Given the description of an element on the screen output the (x, y) to click on. 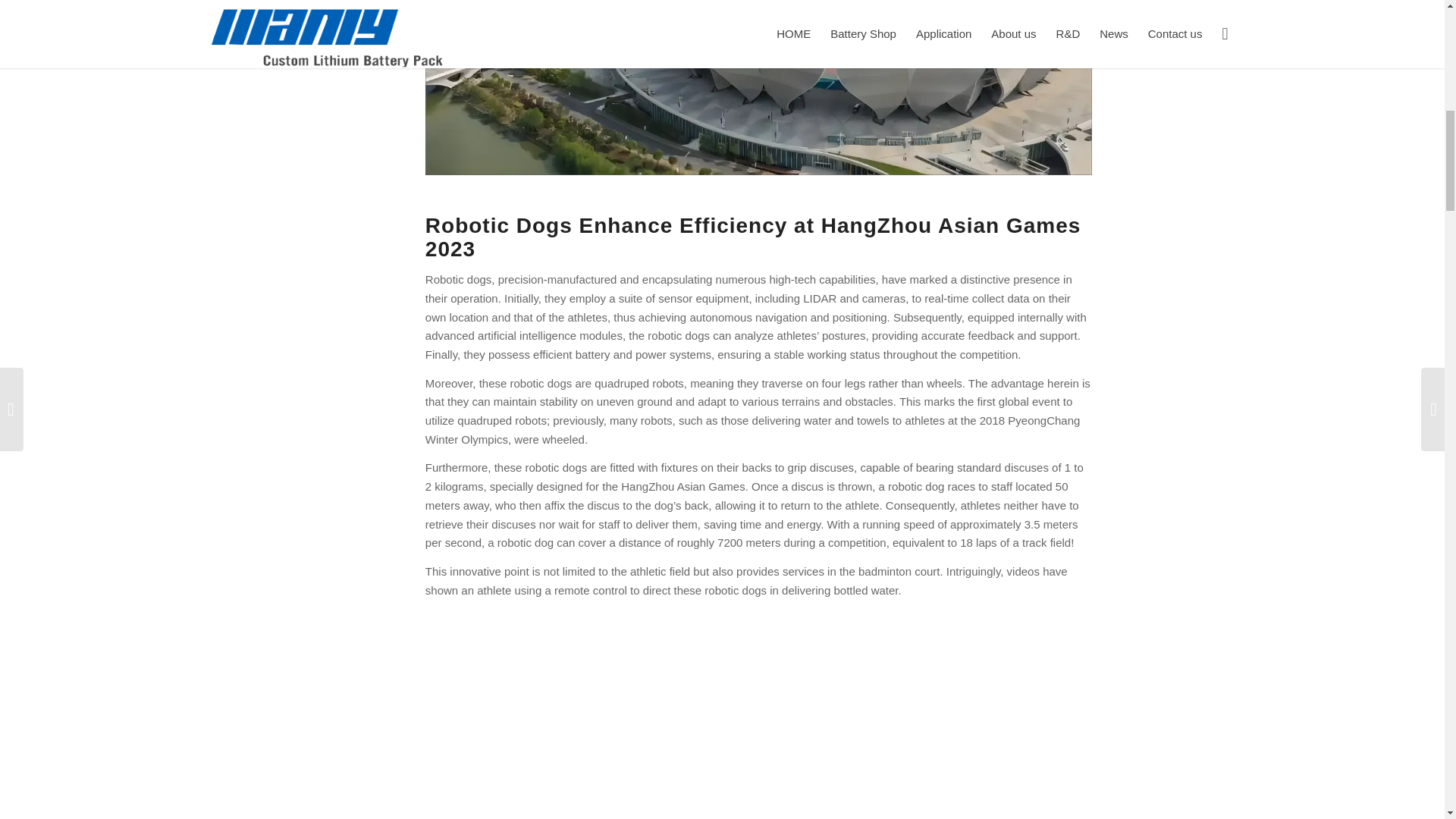
Hangzhou asian games 2023 - manly (758, 91)
